Given the description of an element on the screen output the (x, y) to click on. 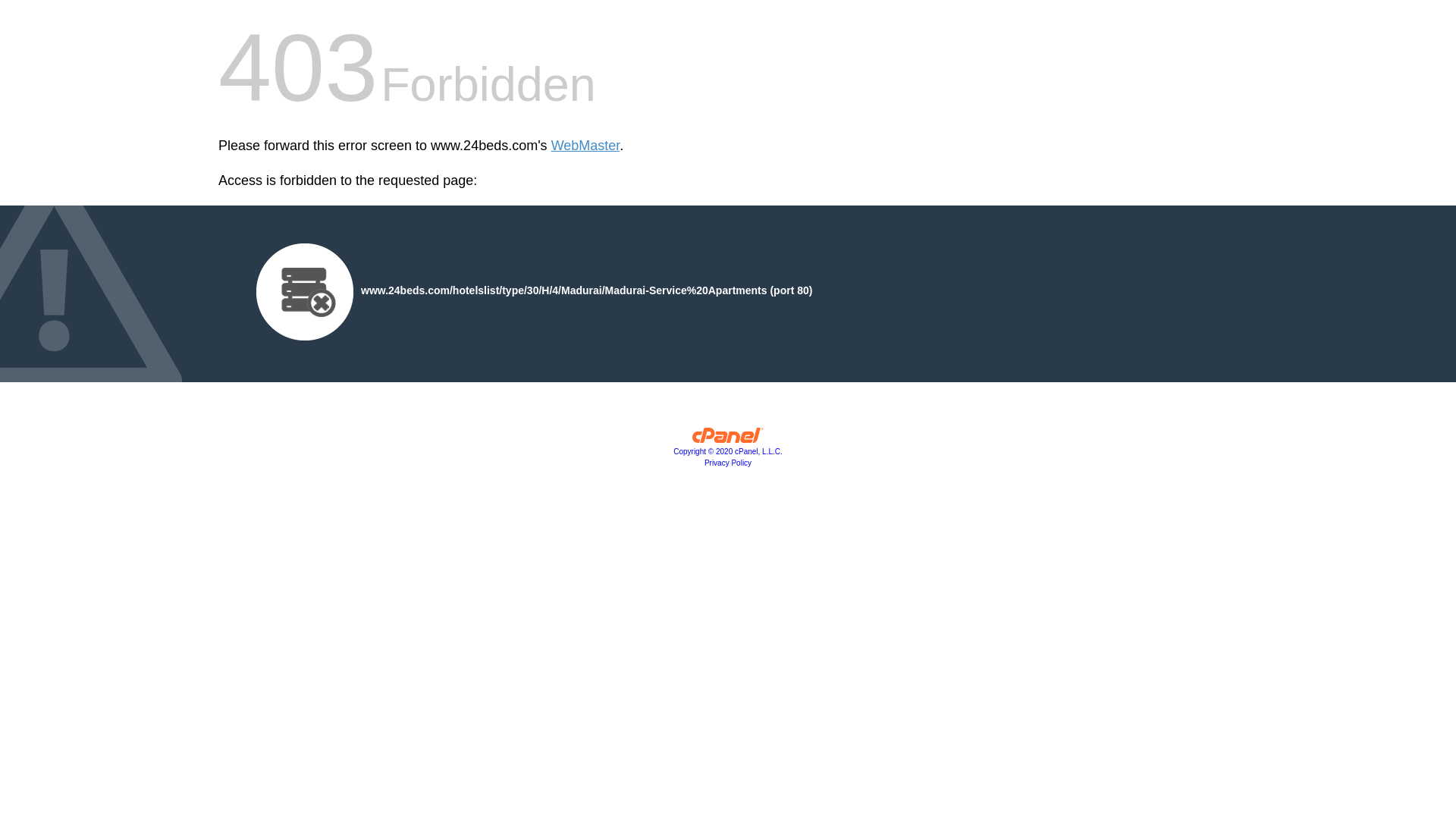
WebMaster Element type: text (585, 145)
cPanel, Inc. Element type: hover (728, 439)
Privacy Policy Element type: text (727, 462)
